Given the description of an element on the screen output the (x, y) to click on. 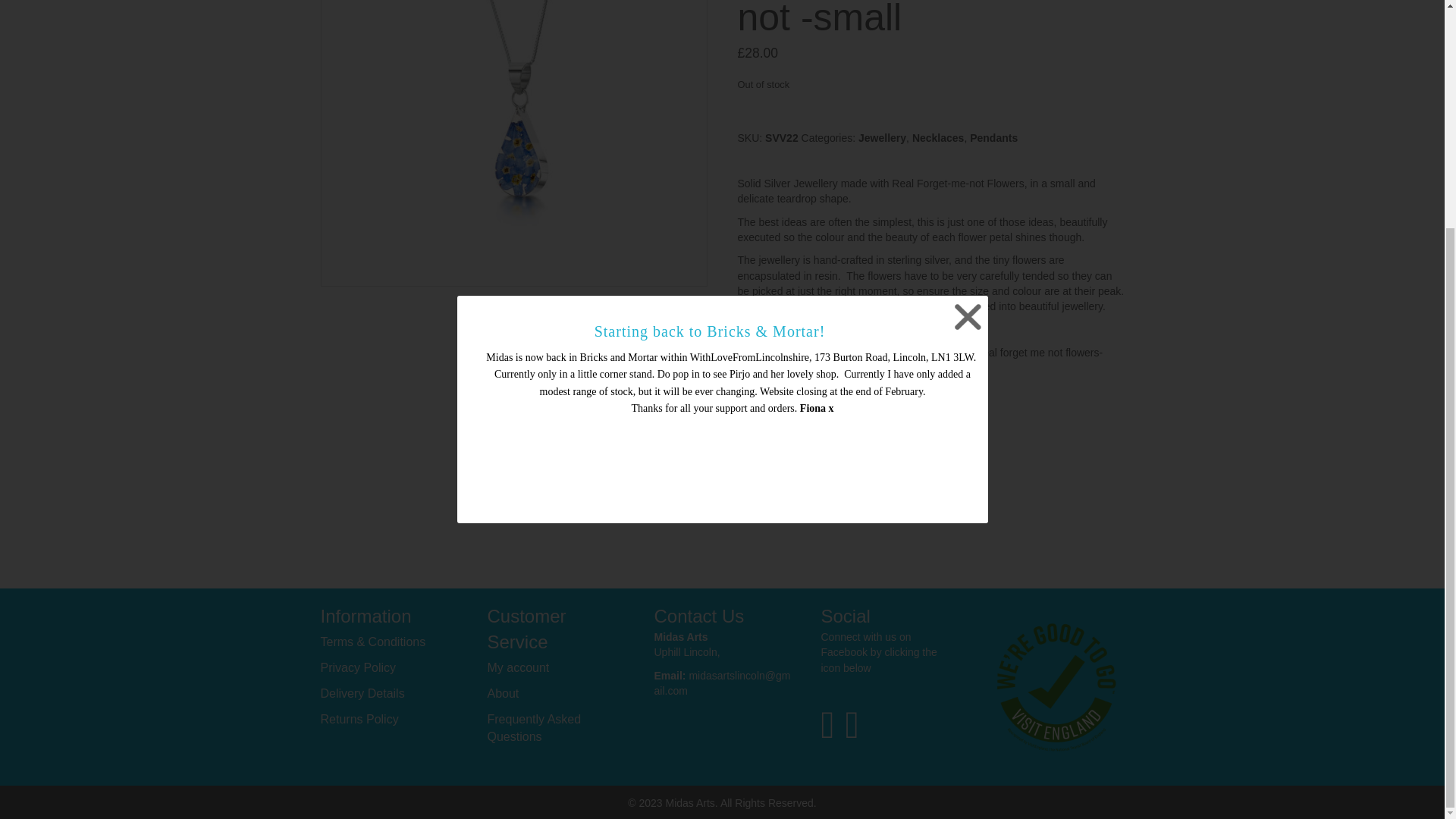
Good To Go png (1055, 687)
fp02 (513, 143)
